Given the description of an element on the screen output the (x, y) to click on. 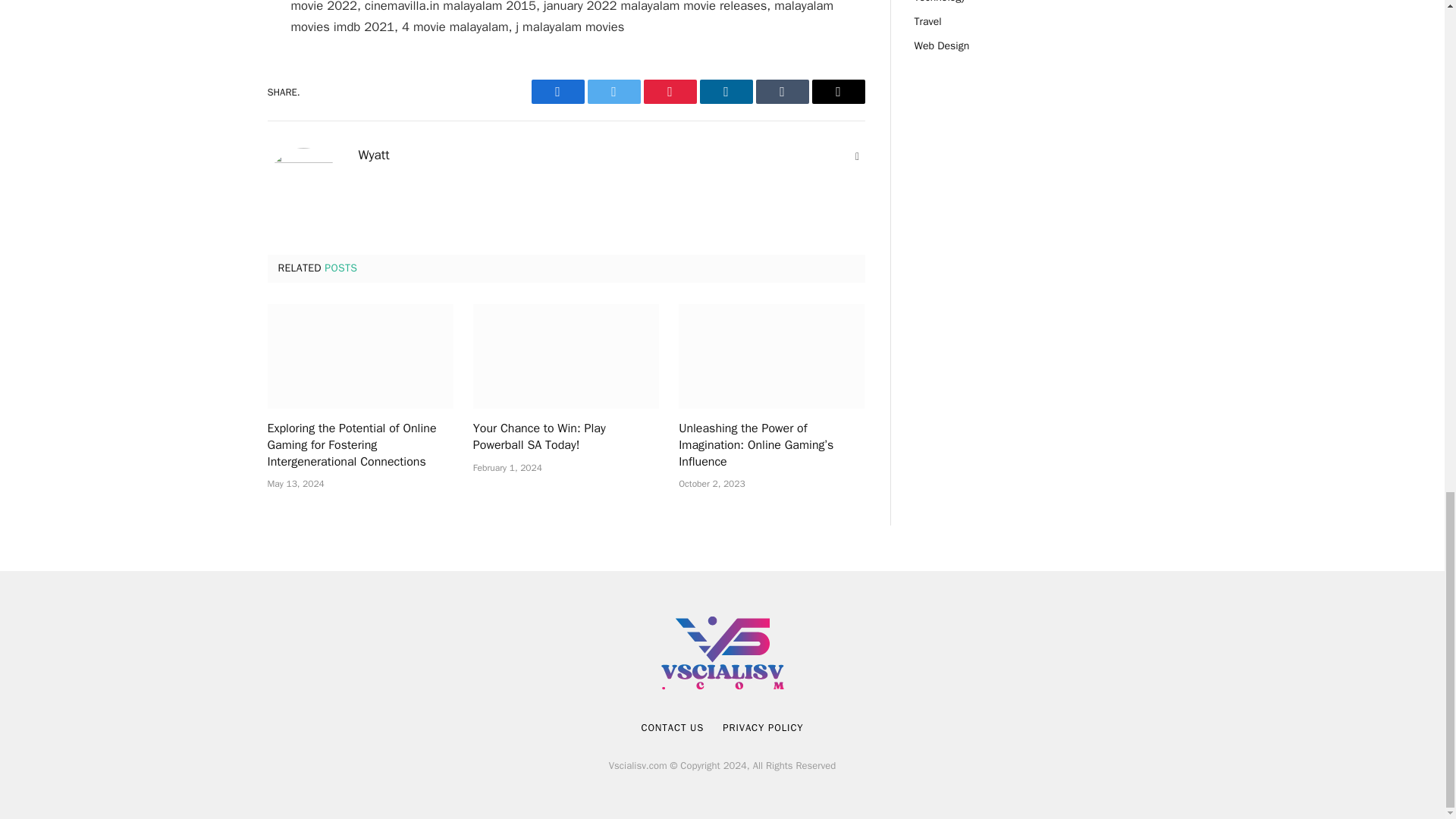
Facebook (557, 91)
